Given the description of an element on the screen output the (x, y) to click on. 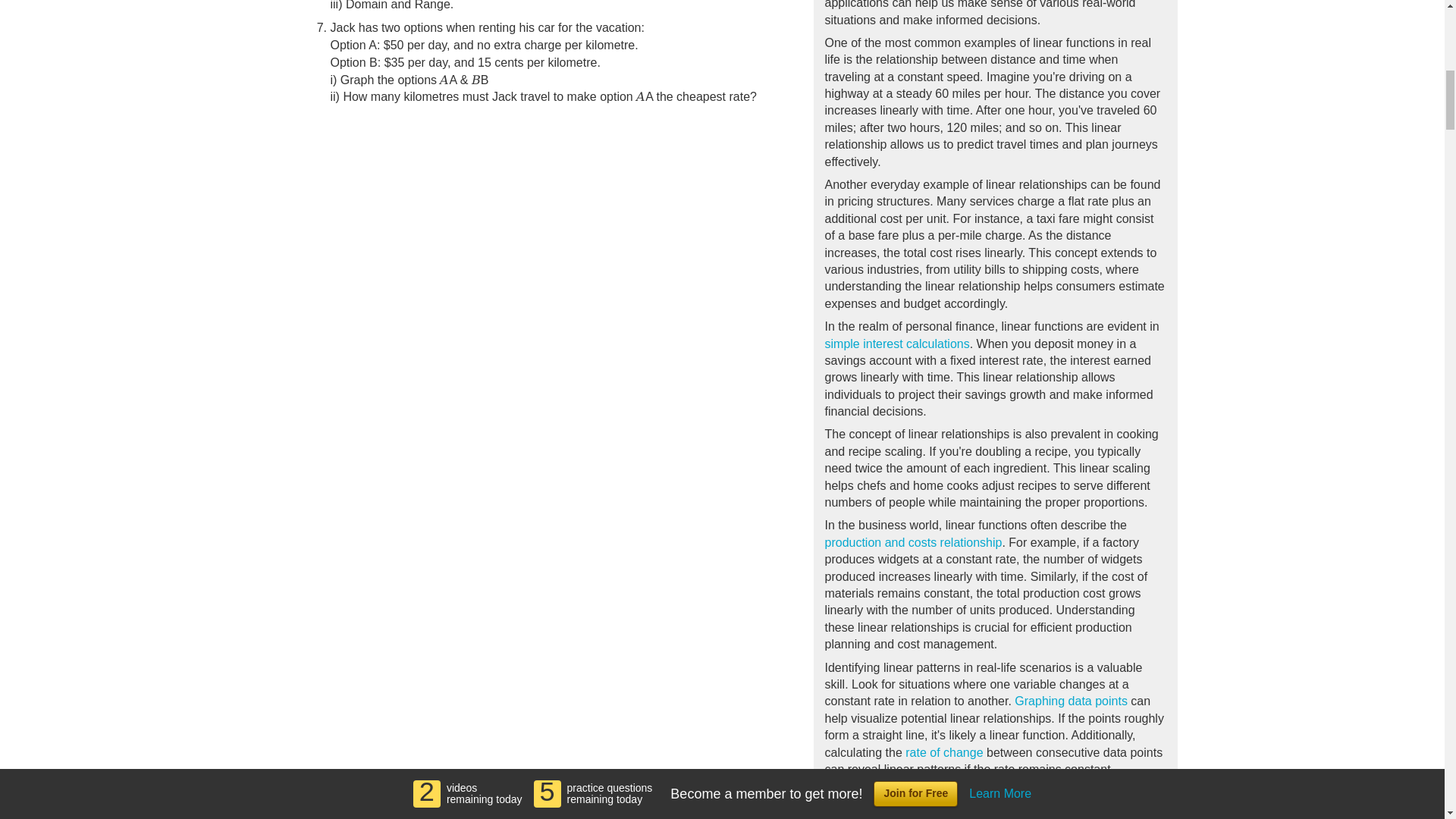
simple interest calculations (897, 343)
